Given the description of an element on the screen output the (x, y) to click on. 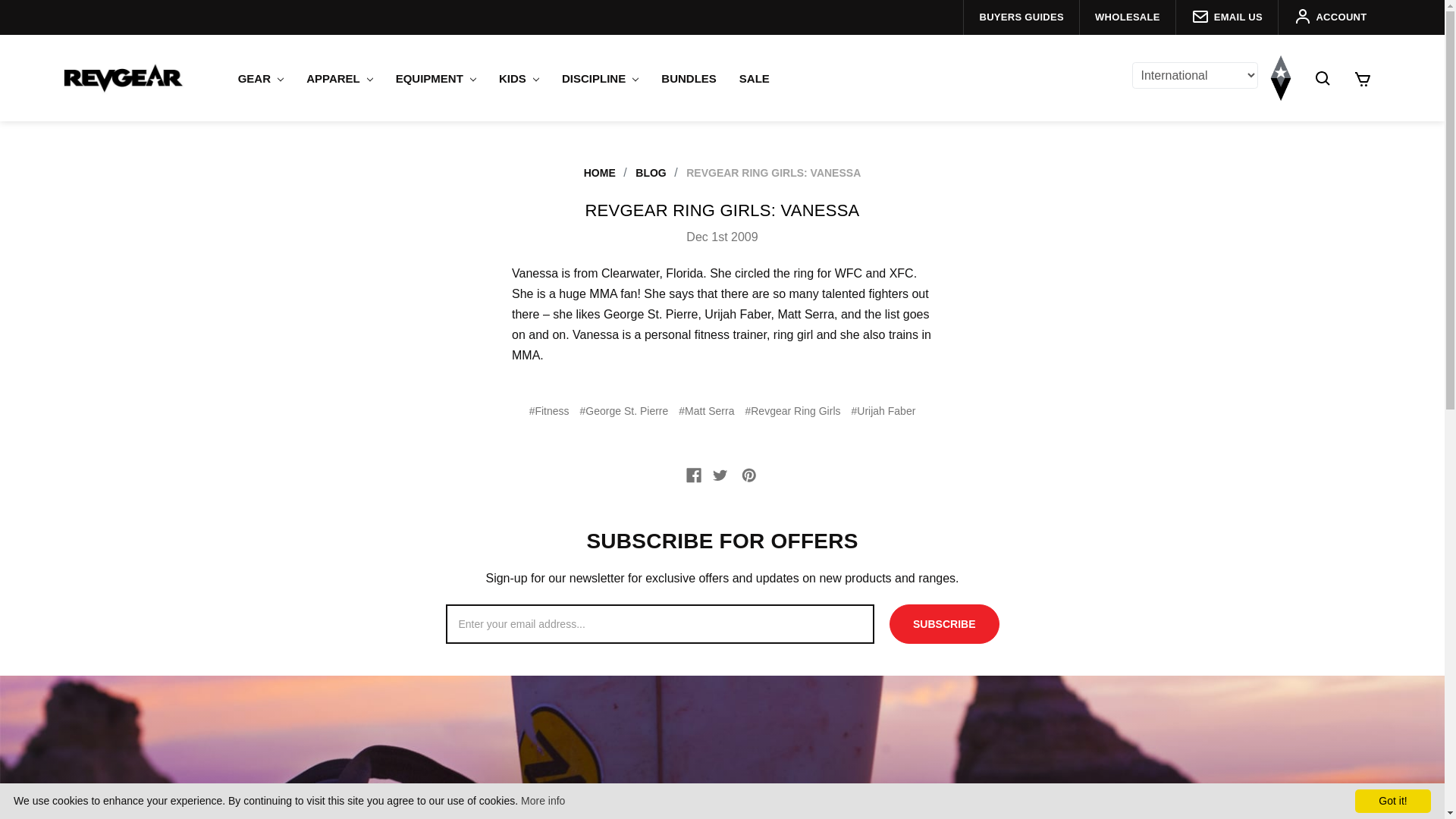
KIDS (518, 78)
BUYERS GUIDES (1020, 17)
Revgear (122, 77)
ACCOUNT (1329, 17)
EMAIL US (1226, 17)
GEAR (261, 78)
DISCIPLINE (599, 78)
APPAREL (339, 78)
Subscribe (943, 623)
WHOLESALE (1126, 17)
EQUIPMENT (435, 78)
